Given the description of an element on the screen output the (x, y) to click on. 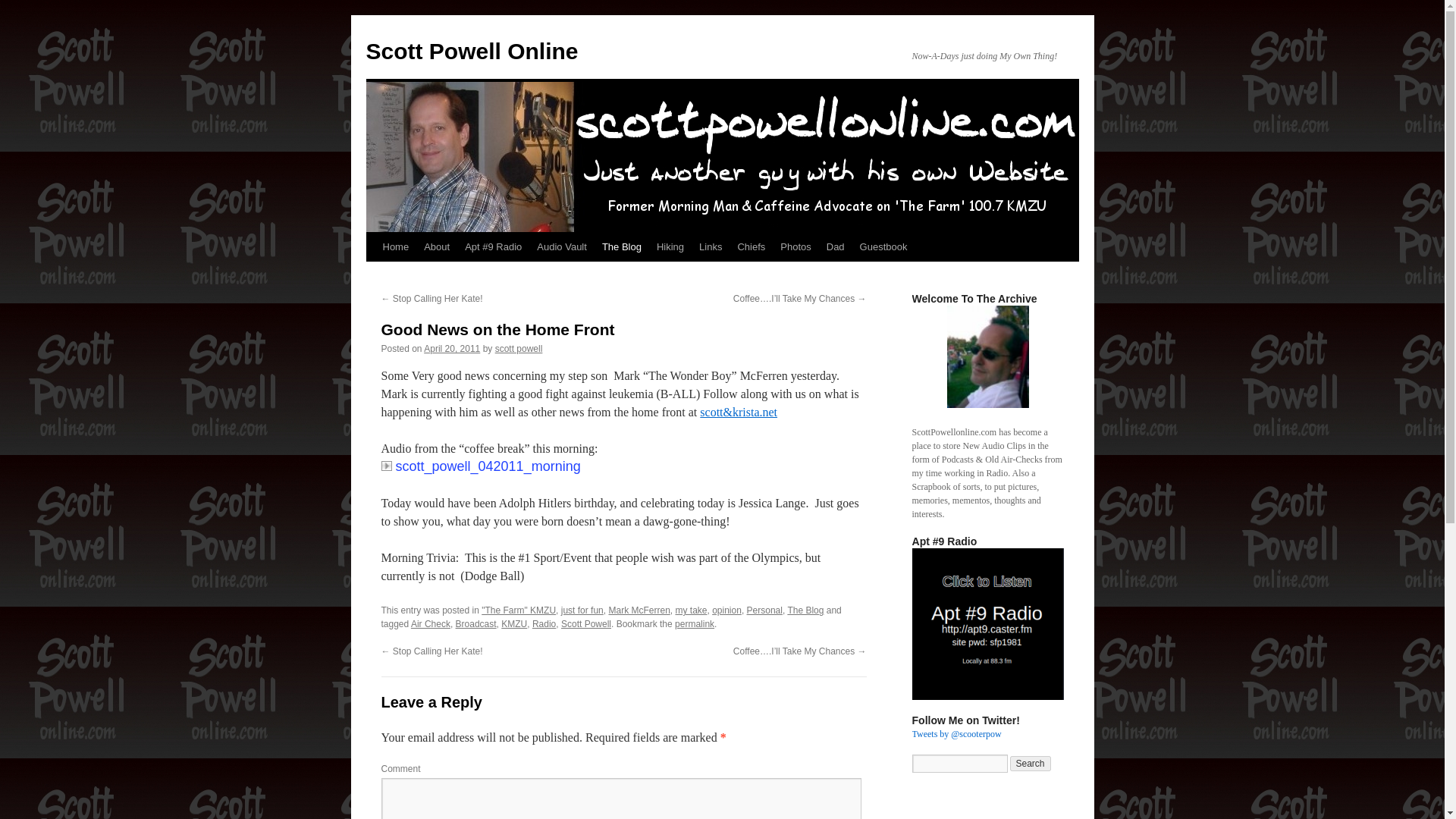
Dad (834, 246)
opinion (726, 610)
April 20, 2011 (451, 348)
View all posts by scott powell (519, 348)
Search (1030, 763)
Photos (795, 246)
Guestbook (883, 246)
Permalink to Good News on the Home Front (694, 624)
just for fun (582, 610)
"The Farm" KMZU (518, 610)
scott powell (519, 348)
Hiking (670, 246)
Home (395, 246)
Scott Powell Online (471, 50)
Personal (764, 610)
